Given the description of an element on the screen output the (x, y) to click on. 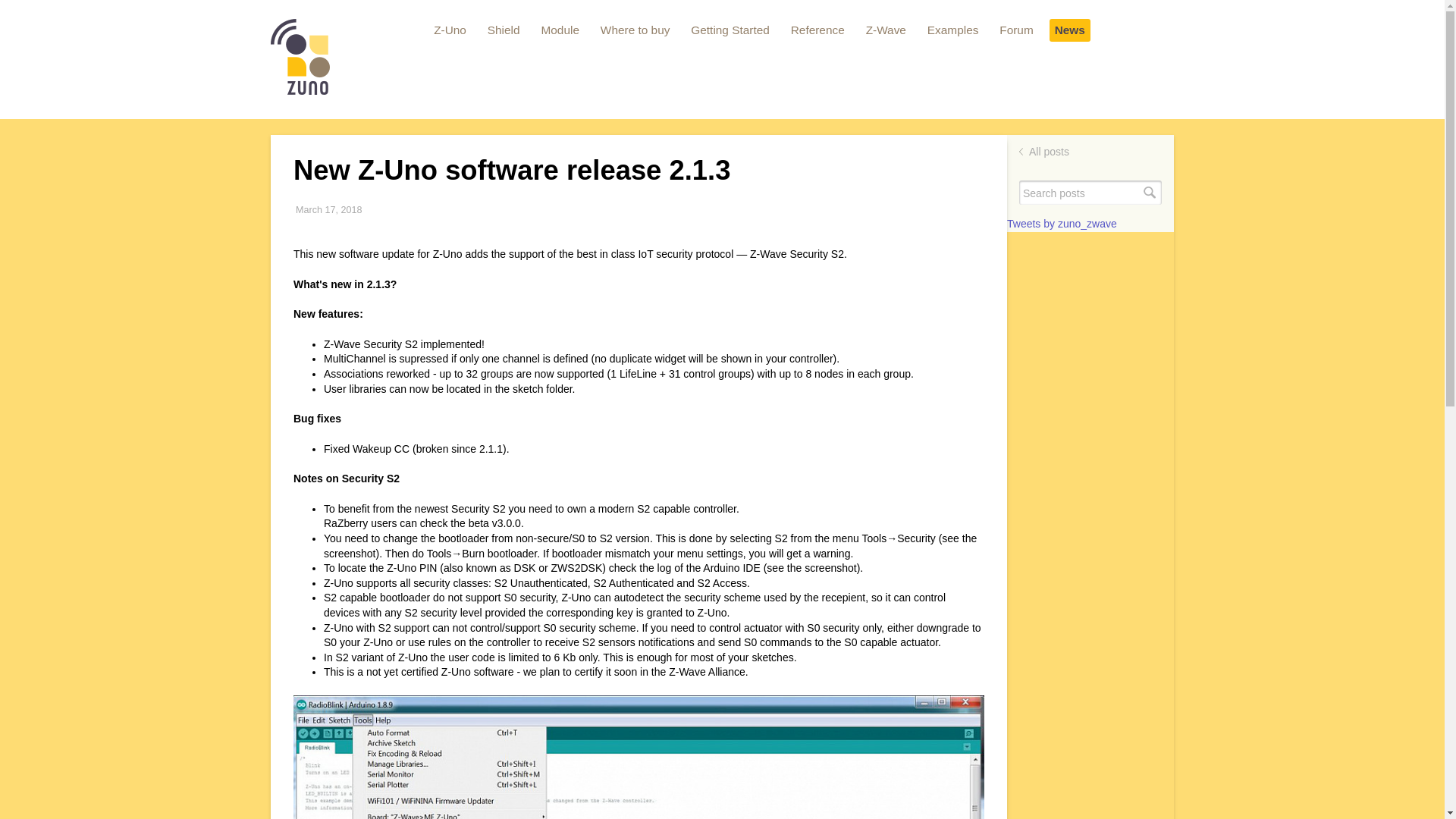
Shield (503, 29)
Reference (818, 29)
Module (559, 29)
Examples (952, 29)
Z-Uno (449, 29)
Z-Uno with Z-Wave Security S2 support (639, 757)
Forum (1016, 29)
Z-Wave (885, 29)
All posts (1048, 151)
Where to buy (635, 29)
